Given the description of an element on the screen output the (x, y) to click on. 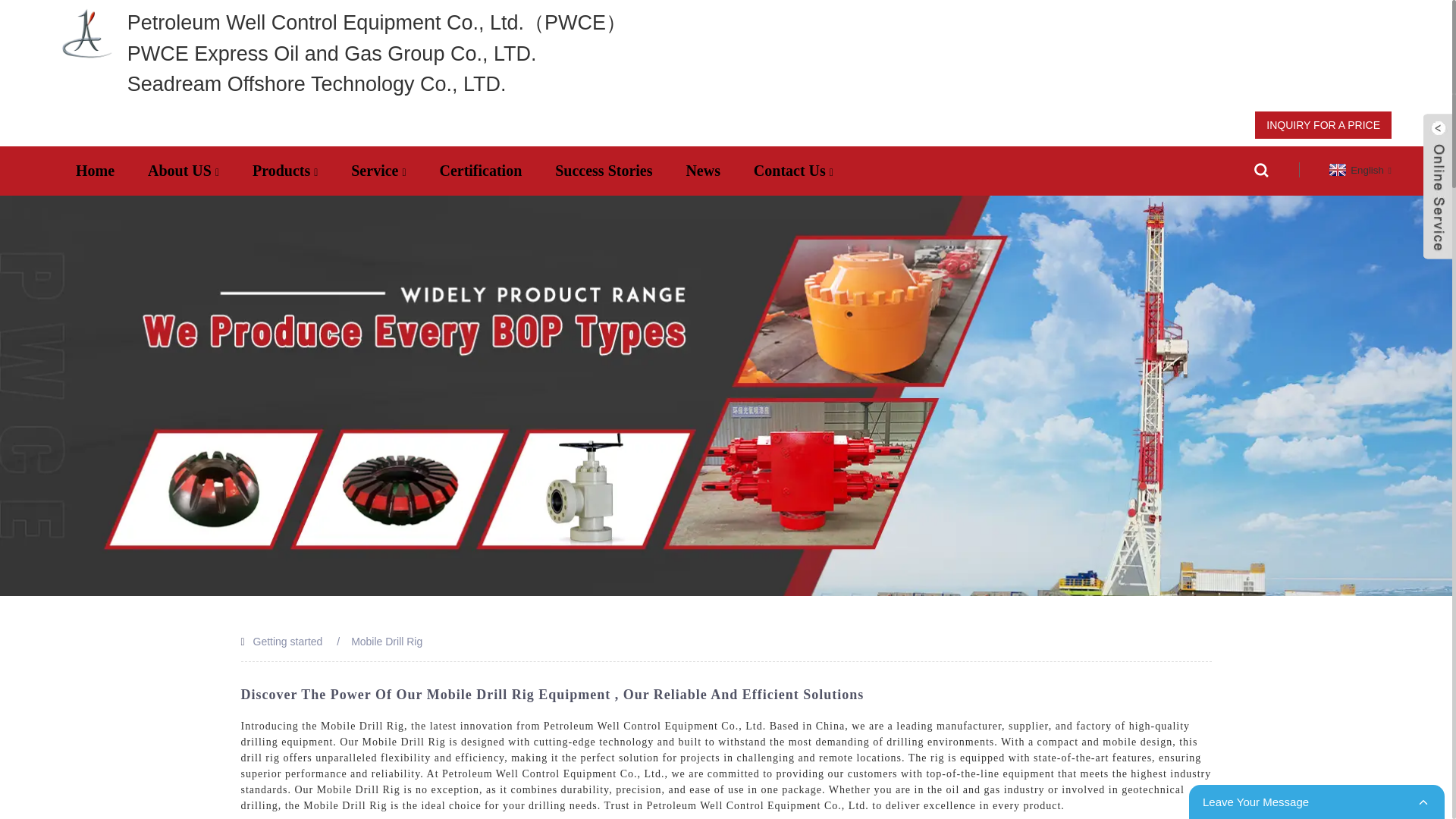
Products (285, 169)
About US (183, 169)
INQUIRY FOR A PRICE (1323, 124)
Home (95, 169)
